Given the description of an element on the screen output the (x, y) to click on. 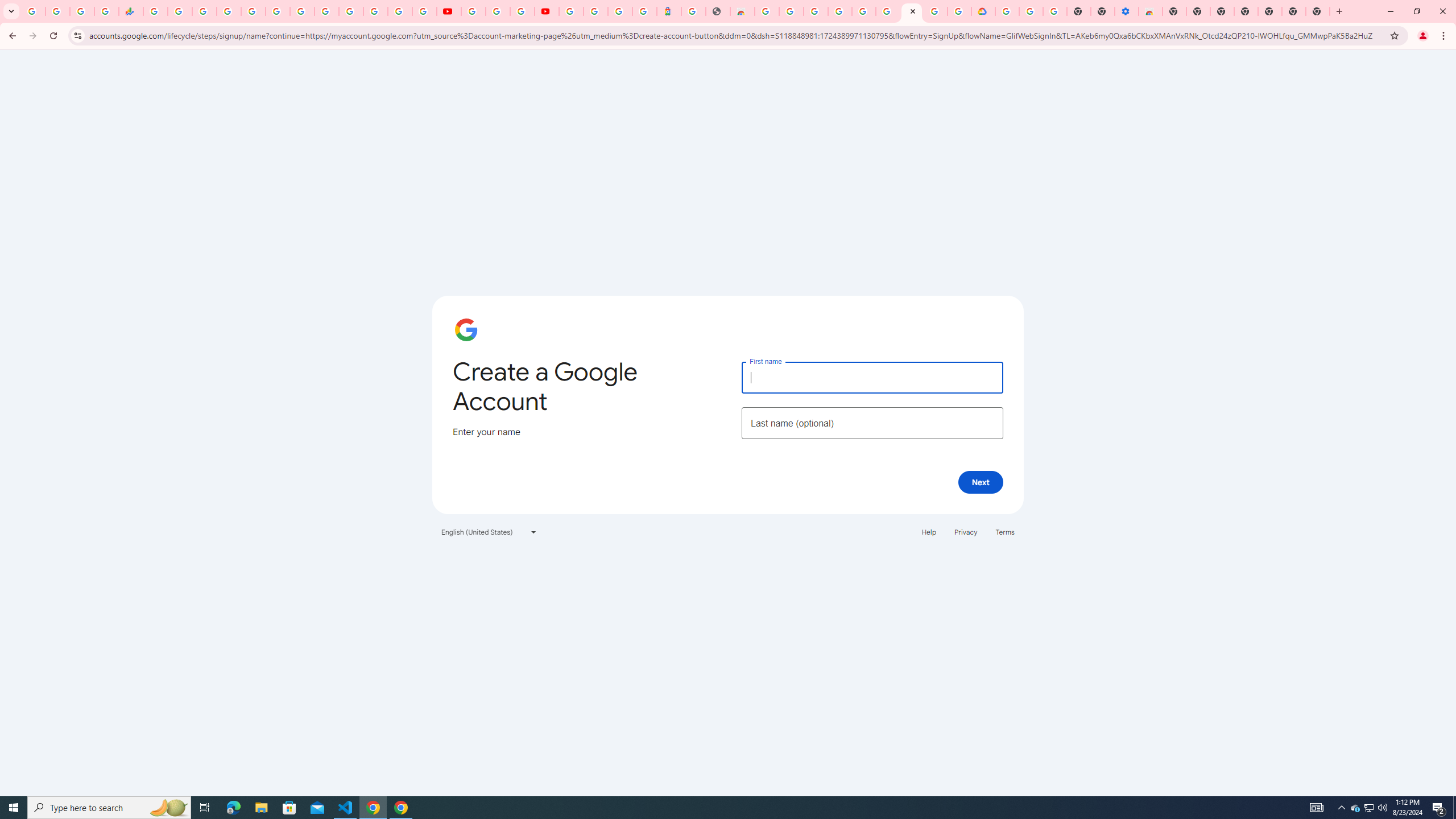
New Tab (1174, 11)
Chrome Web Store - Household (742, 11)
Privacy Checkup (424, 11)
YouTube (325, 11)
Sign in - Google Accounts (228, 11)
